Given the description of an element on the screen output the (x, y) to click on. 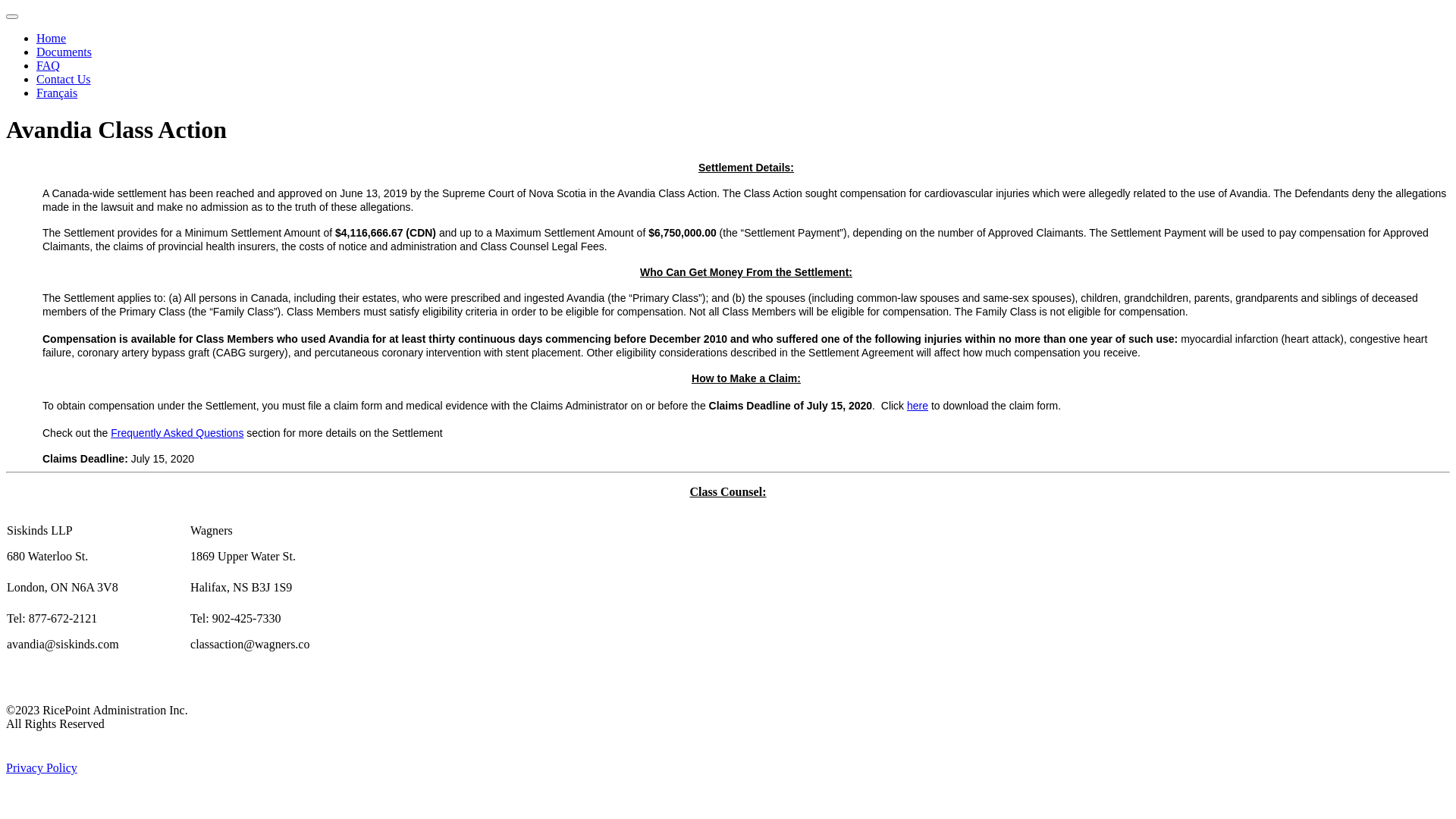
FAQ Element type: text (47, 65)
RicePoint Administration Inc. Element type: hover (103, 753)
Frequently Asked Questions Element type: text (176, 432)
Home Element type: text (50, 37)
Privacy Policy Element type: text (41, 767)
Documents Element type: text (63, 51)
here Element type: text (917, 405)
Contact Us Element type: text (63, 78)
